Given the description of an element on the screen output the (x, y) to click on. 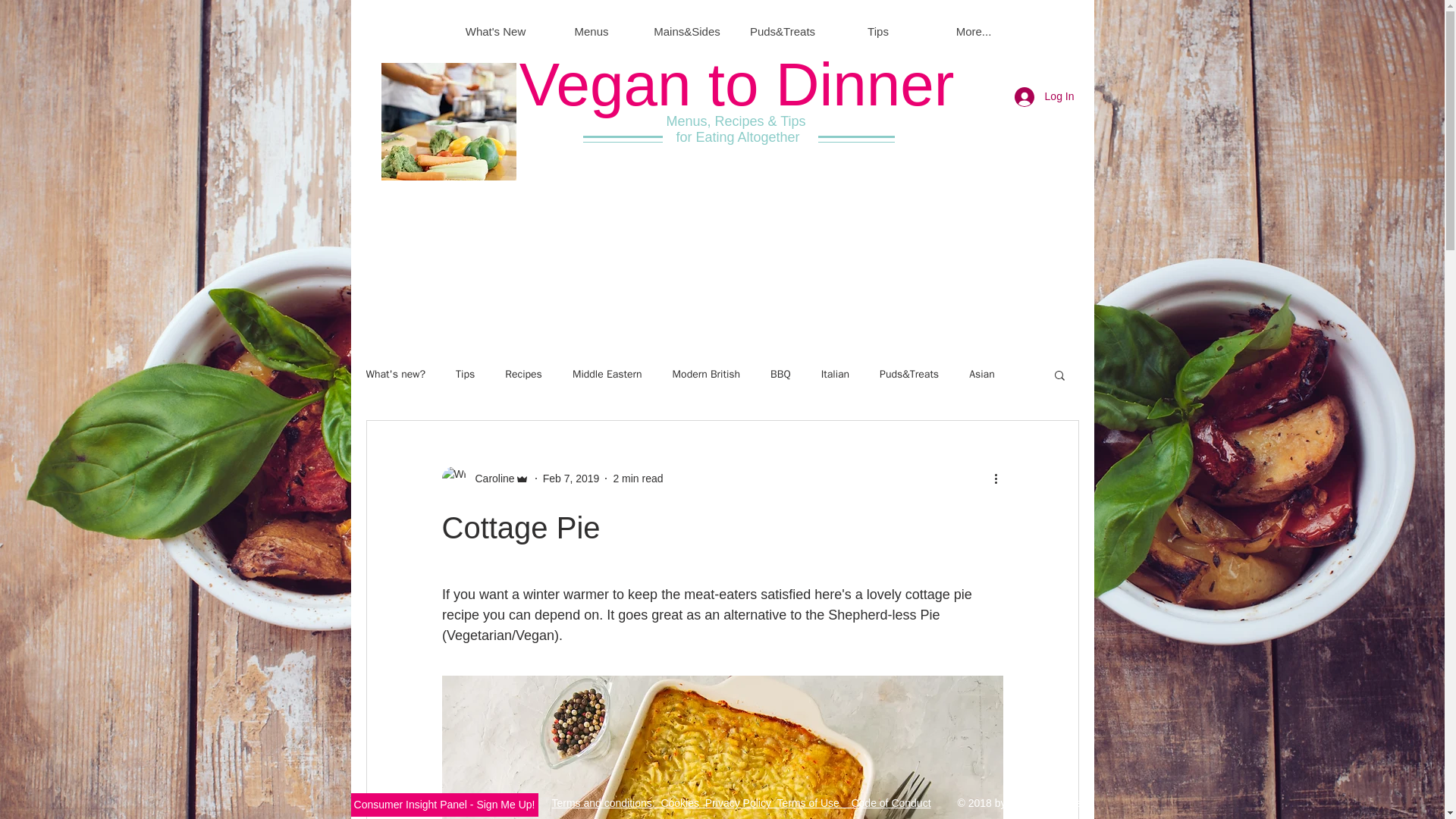
Vegan to Dinner (737, 83)
Tips (464, 374)
Recipes (523, 374)
What's new? (395, 374)
Feb 7, 2019 (571, 477)
Caroline (489, 478)
Asian (981, 374)
Middle Eastern (607, 374)
Caroline (484, 478)
Modern British (705, 374)
Log In (1044, 96)
Tips (876, 31)
Italian (834, 374)
Menus (591, 31)
What's New (494, 31)
